Given the description of an element on the screen output the (x, y) to click on. 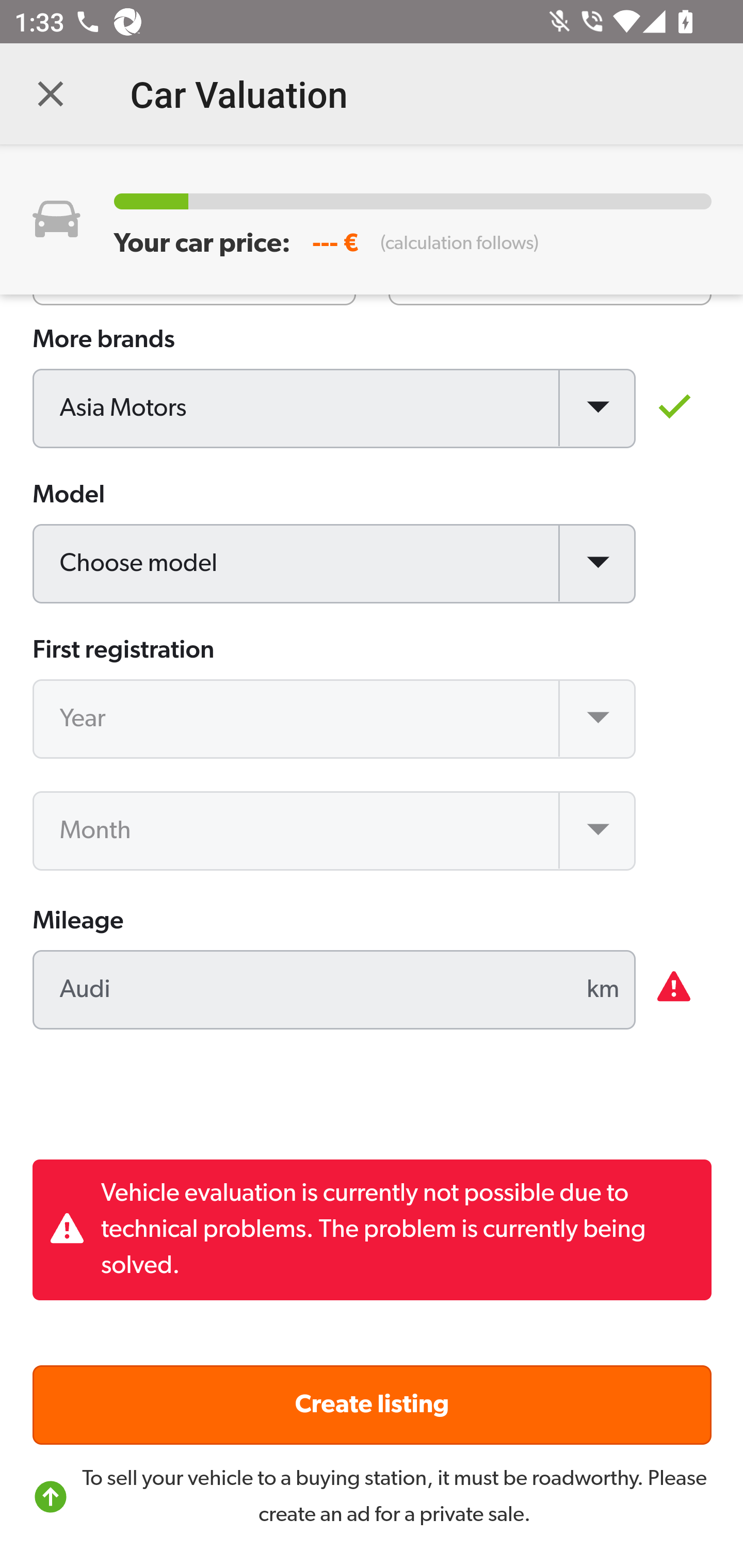
Navigate up (50, 93)
Asia Motors (334, 409)
Choose model (334, 564)
Year (334, 720)
Month (334, 831)
Audi (334, 991)
Create listing (372, 1405)
